Given the description of an element on the screen output the (x, y) to click on. 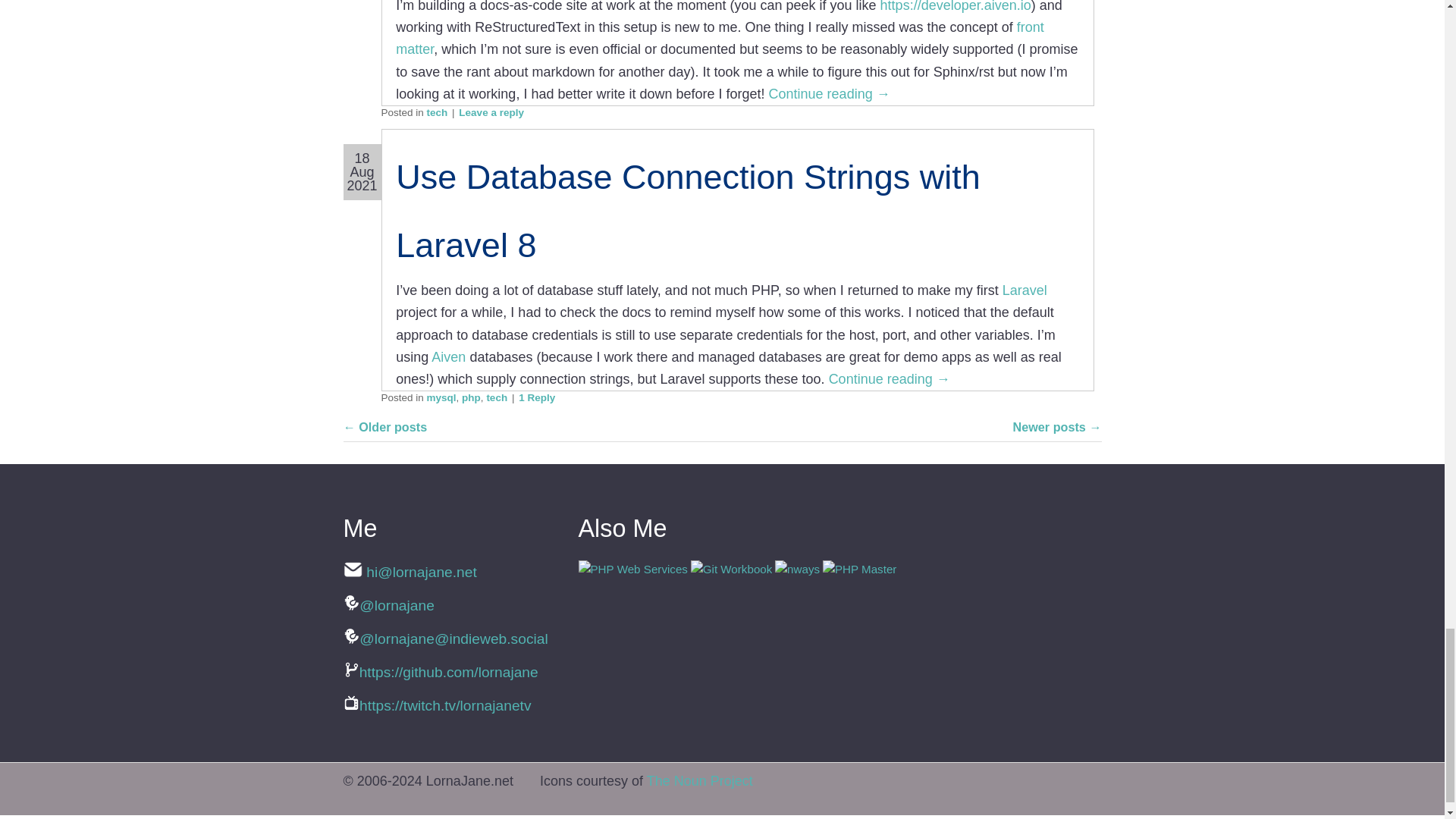
The Noun Project (699, 780)
Permalink to Use Database Connection Strings with Laravel 8 (687, 211)
